Given the description of an element on the screen output the (x, y) to click on. 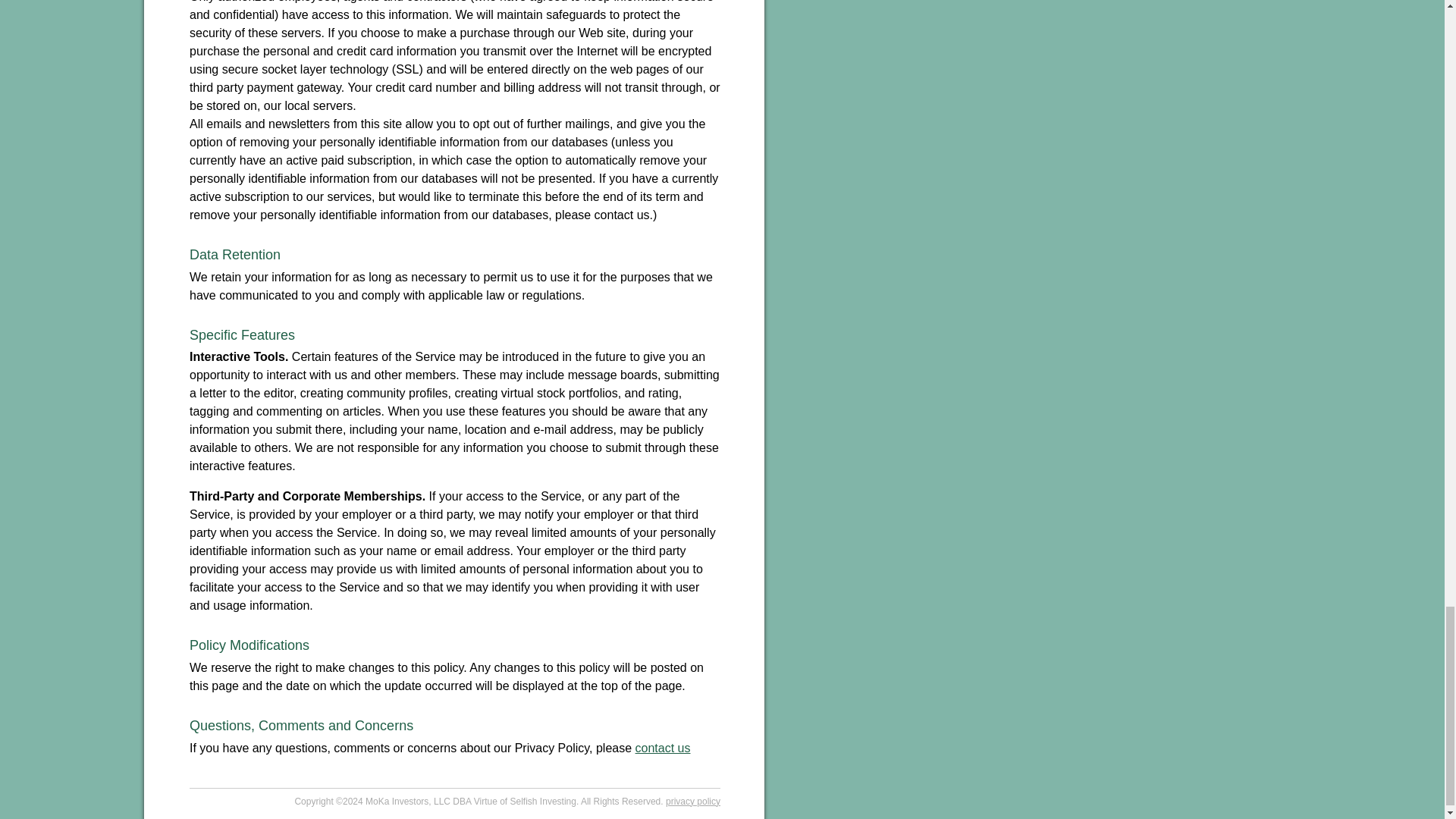
privacy policy (692, 801)
contact us (662, 748)
